Given the description of an element on the screen output the (x, y) to click on. 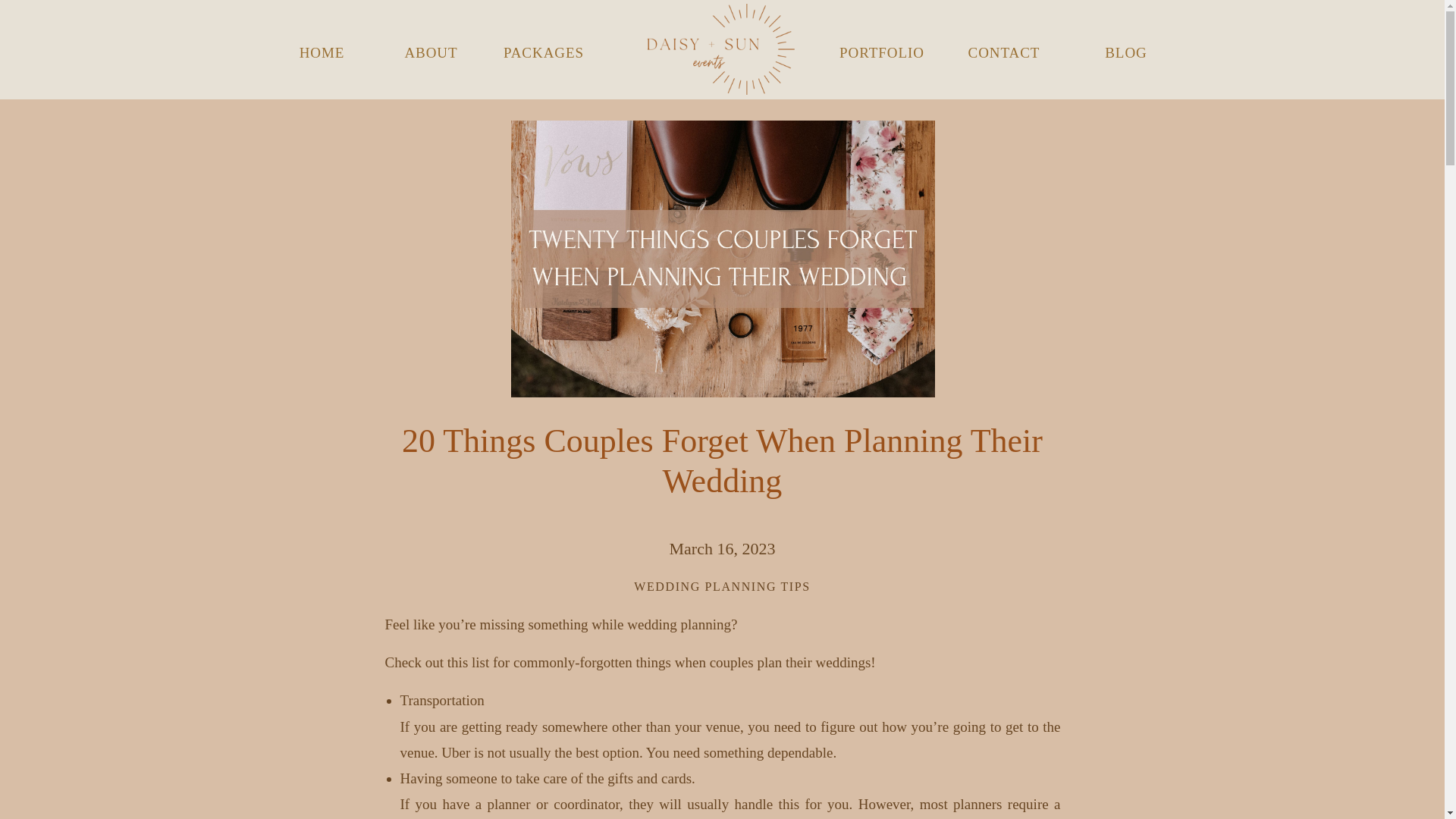
BLOG (1125, 49)
WEDDING PLANNING TIPS (721, 585)
ABOUT (429, 49)
PACKAGES (542, 49)
HOME (320, 49)
PORTFOLIO (881, 49)
CONTACT (1004, 49)
